Given the description of an element on the screen output the (x, y) to click on. 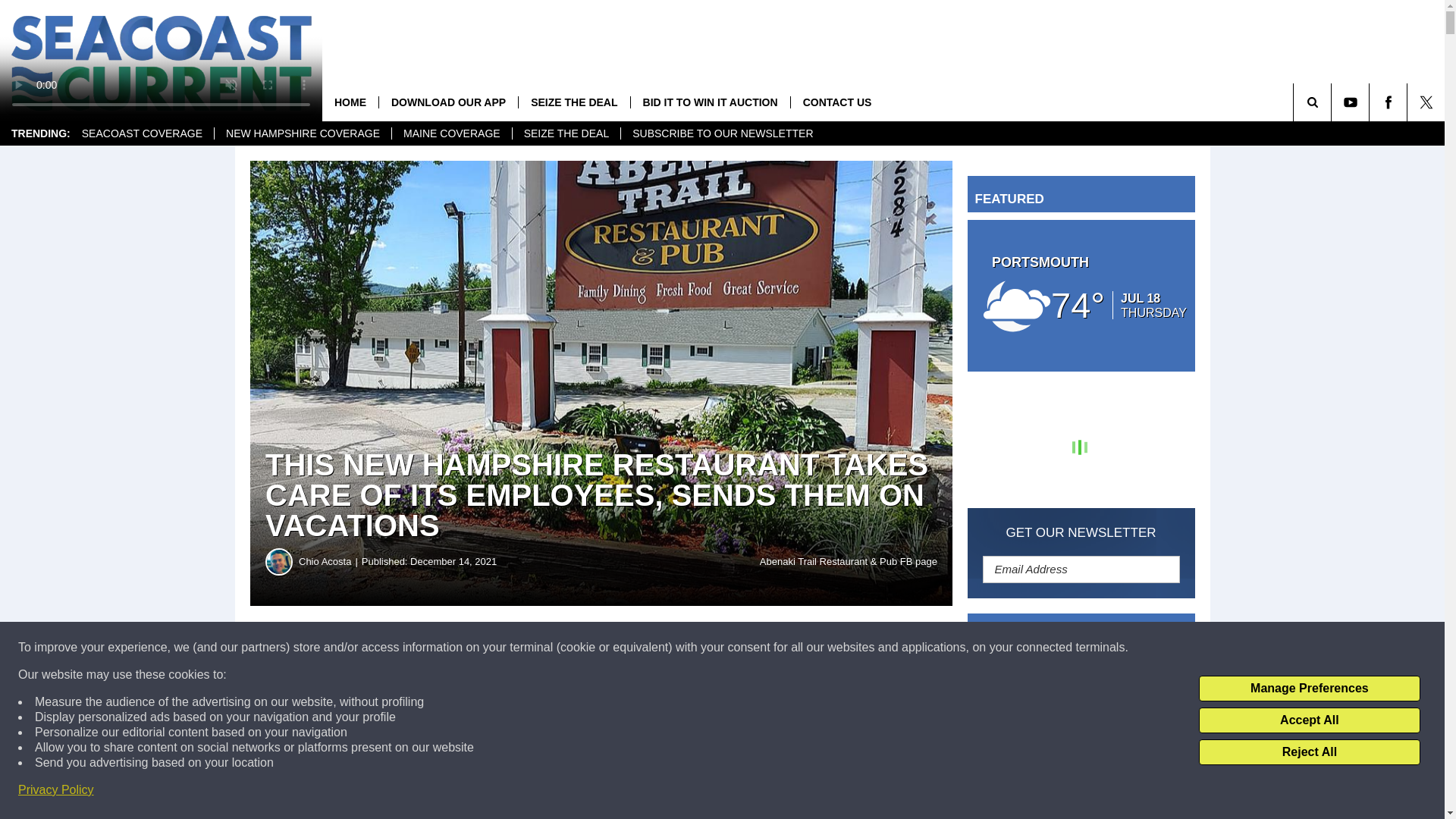
SEACOAST COVERAGE (141, 133)
Portsmouth Weather (1081, 295)
Accept All (1309, 720)
Visit us on Youtube (1350, 102)
Visit us on Facebook (1388, 102)
SEARCH (1333, 102)
BID IT TO WIN IT AUCTION (710, 102)
HOME (349, 102)
MAINE COVERAGE (451, 133)
SEIZE THE DEAL (566, 133)
Manage Preferences (1309, 688)
SUBSCRIBE TO OUR NEWSLETTER (722, 133)
SEIZE THE DEAL (573, 102)
SEARCH (1333, 102)
Privacy Policy (55, 789)
